Given the description of an element on the screen output the (x, y) to click on. 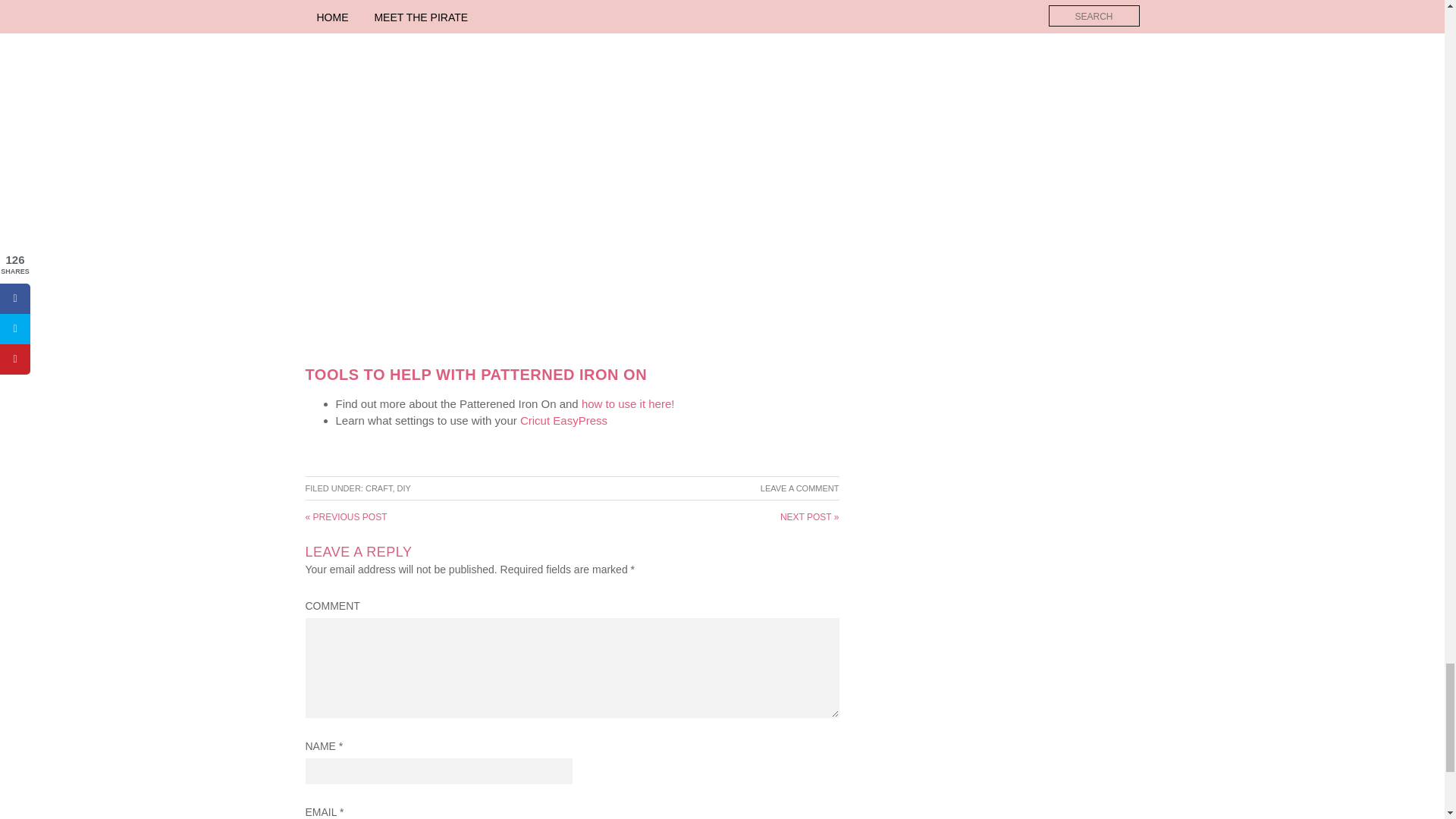
LEAVE A COMMENT (800, 488)
CRAFT (378, 488)
how to use it here! (627, 403)
DIY (403, 488)
Cricut EasyPress (561, 420)
